Given the description of an element on the screen output the (x, y) to click on. 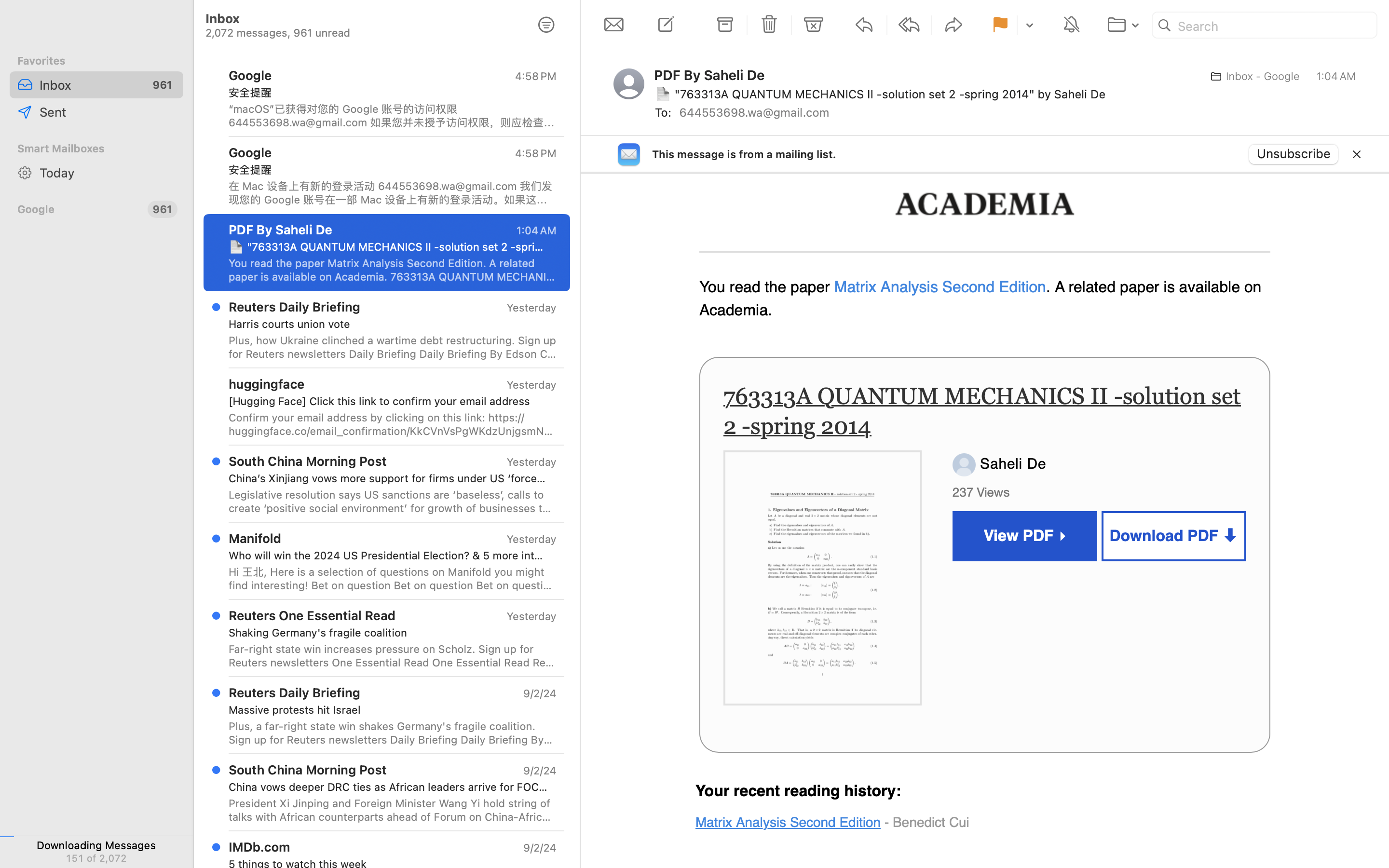
￼Inbox - Google Element type: AXStaticText (1251, 75)
Harris courts union vote Element type: AXStaticText (388, 323)
Inbox Element type: AXStaticText (360, 800)
Plus, a far-right state win shakes Germany's fragile coalition. Sign up for Reuters newsletters Daily Briefing Daily Briefing By Edson Caldas Frustration is mounting over Israel's failure to secure a ceasefire deal that would free hostages. Today, we cover massive protests across the country and a general strike. Elsewhere, a far-right state win shakes Germany's fragile coalition, and a Russian missile attack rocks Kyiv and other parts of Ukraine. Plus, the latest from the Paris Paralympics. Today's Top News Hundreds of thousands protested across Israel on Sunday. REUTERS/Florion Goga War in Gaza Municipal services in several Israeli districts were disrupted today after the country's biggest labor union launched a general strike to pressure Prime Minister Benjamin Netanyahu into agreeing to a deal to bring Israeli hostages in Gaza home. Over the weekend, massive protests swept the country following the death of six hostages in Gaza. Crowds estimated by Israeli media to number up to 500 Element type: AXStaticText (392, 732)
9/2/24 Element type: AXStaticText (538, 847)
